Given the description of an element on the screen output the (x, y) to click on. 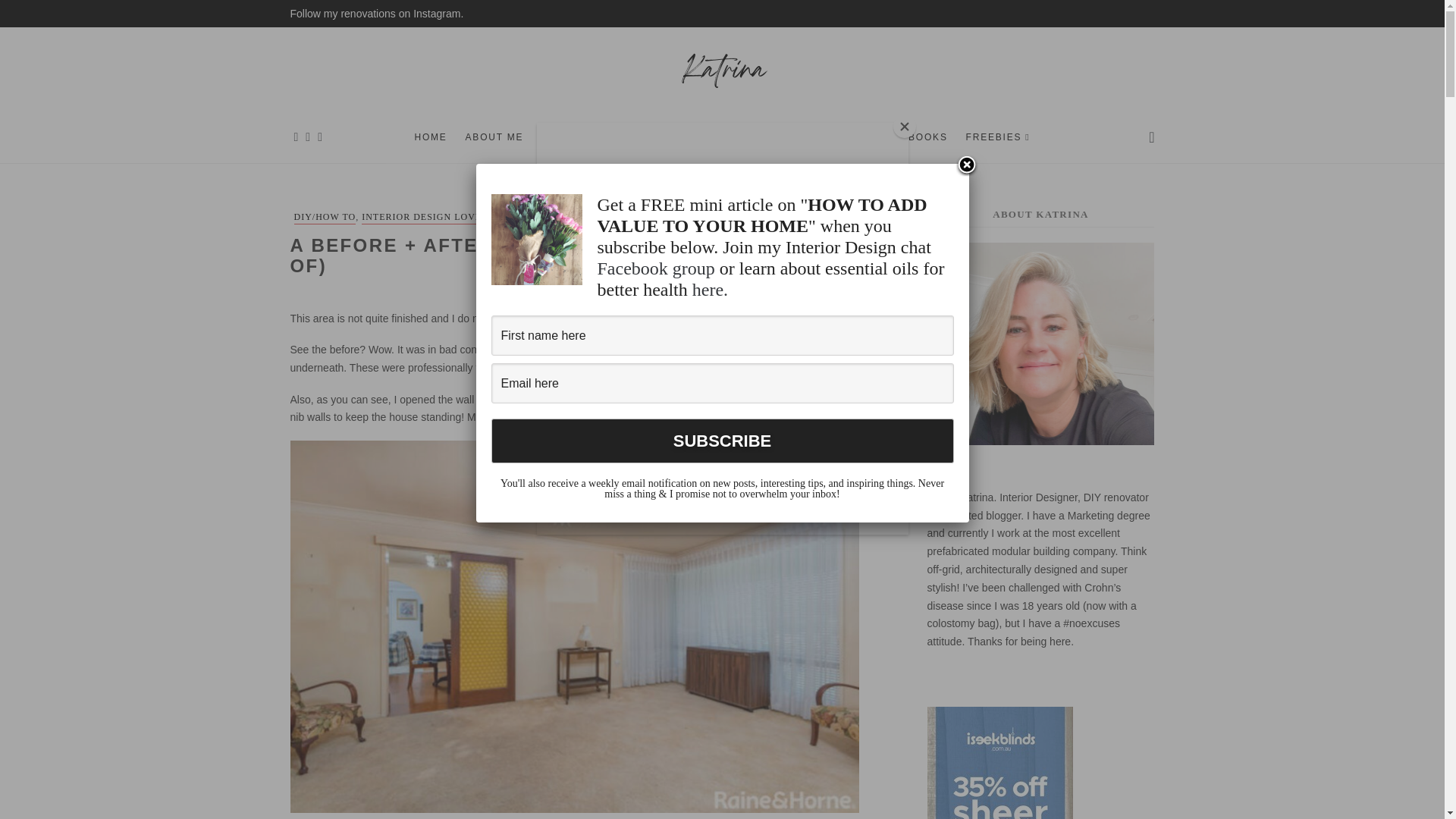
INTERIOR DESIGN LOVE (421, 217)
RENO RULES (519, 217)
FREEBIES (998, 137)
Subscribe (722, 440)
Close (966, 165)
WORK WITH ME (584, 137)
ABOUT ME (494, 137)
THE RENO (582, 217)
